Given the description of an element on the screen output the (x, y) to click on. 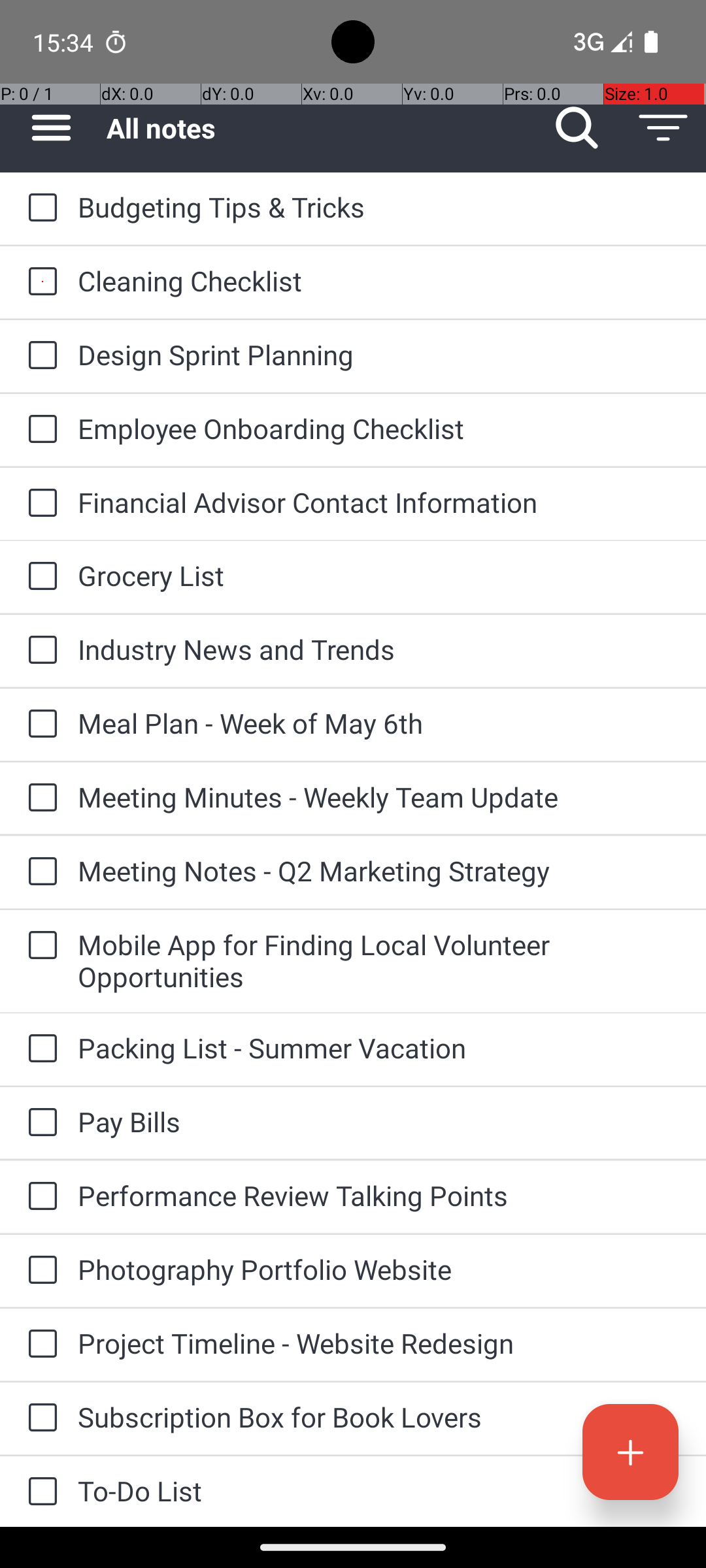
to-do: Cleaning Checklist Element type: android.widget.CheckBox (38, 282)
Cleaning Checklist Element type: android.widget.TextView (378, 280)
to-do: Design Sprint Planning Element type: android.widget.CheckBox (38, 356)
Design Sprint Planning Element type: android.widget.TextView (378, 354)
to-do: Employee Onboarding Checklist Element type: android.widget.CheckBox (38, 429)
Employee Onboarding Checklist Element type: android.widget.TextView (378, 427)
to-do: Grocery List Element type: android.widget.CheckBox (38, 576)
to-do: Industry News and Trends Element type: android.widget.CheckBox (38, 650)
Industry News and Trends Element type: android.widget.TextView (378, 648)
to-do: Meal Plan - Week of May 6th Element type: android.widget.CheckBox (38, 724)
Meal Plan - Week of May 6th Element type: android.widget.TextView (378, 722)
to-do: Meeting Minutes - Weekly Team Update Element type: android.widget.CheckBox (38, 798)
Meeting Minutes - Weekly Team Update Element type: android.widget.TextView (378, 796)
to-do: Meeting Notes - Q2 Marketing Strategy Element type: android.widget.CheckBox (38, 872)
Meeting Notes - Q2 Marketing Strategy Element type: android.widget.TextView (378, 870)
to-do: Mobile App for Finding Local Volunteer Opportunities Element type: android.widget.CheckBox (38, 945)
Mobile App for Finding Local Volunteer Opportunities Element type: android.widget.TextView (378, 960)
to-do: Packing List - Summer Vacation Element type: android.widget.CheckBox (38, 1049)
Packing List - Summer Vacation Element type: android.widget.TextView (378, 1047)
to-do: Pay Bills Element type: android.widget.CheckBox (38, 1123)
to-do: Performance Review Talking Points Element type: android.widget.CheckBox (38, 1196)
Performance Review Talking Points Element type: android.widget.TextView (378, 1194)
to-do: Photography Portfolio Website Element type: android.widget.CheckBox (38, 1270)
Photography Portfolio Website Element type: android.widget.TextView (378, 1268)
to-do: Project Timeline - Website Redesign Element type: android.widget.CheckBox (38, 1344)
Project Timeline - Website Redesign Element type: android.widget.TextView (378, 1342)
to-do: Subscription Box for Book Lovers Element type: android.widget.CheckBox (38, 1418)
Subscription Box for Book Lovers Element type: android.widget.TextView (378, 1416)
to-do: To-Do List Element type: android.widget.CheckBox (38, 1491)
To-Do List Element type: android.widget.TextView (378, 1490)
